Given the description of an element on the screen output the (x, y) to click on. 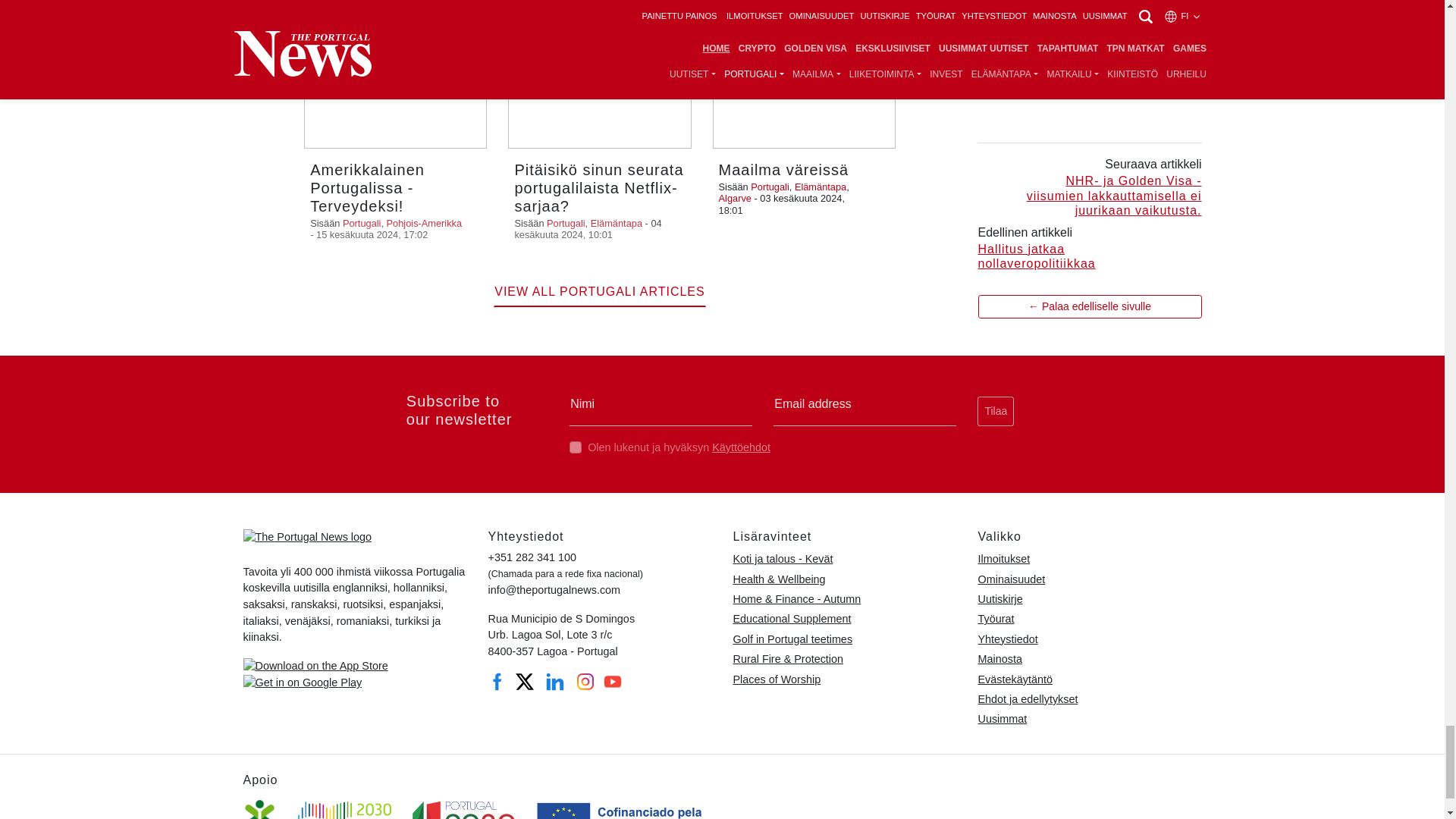
on (574, 447)
